Given the description of an element on the screen output the (x, y) to click on. 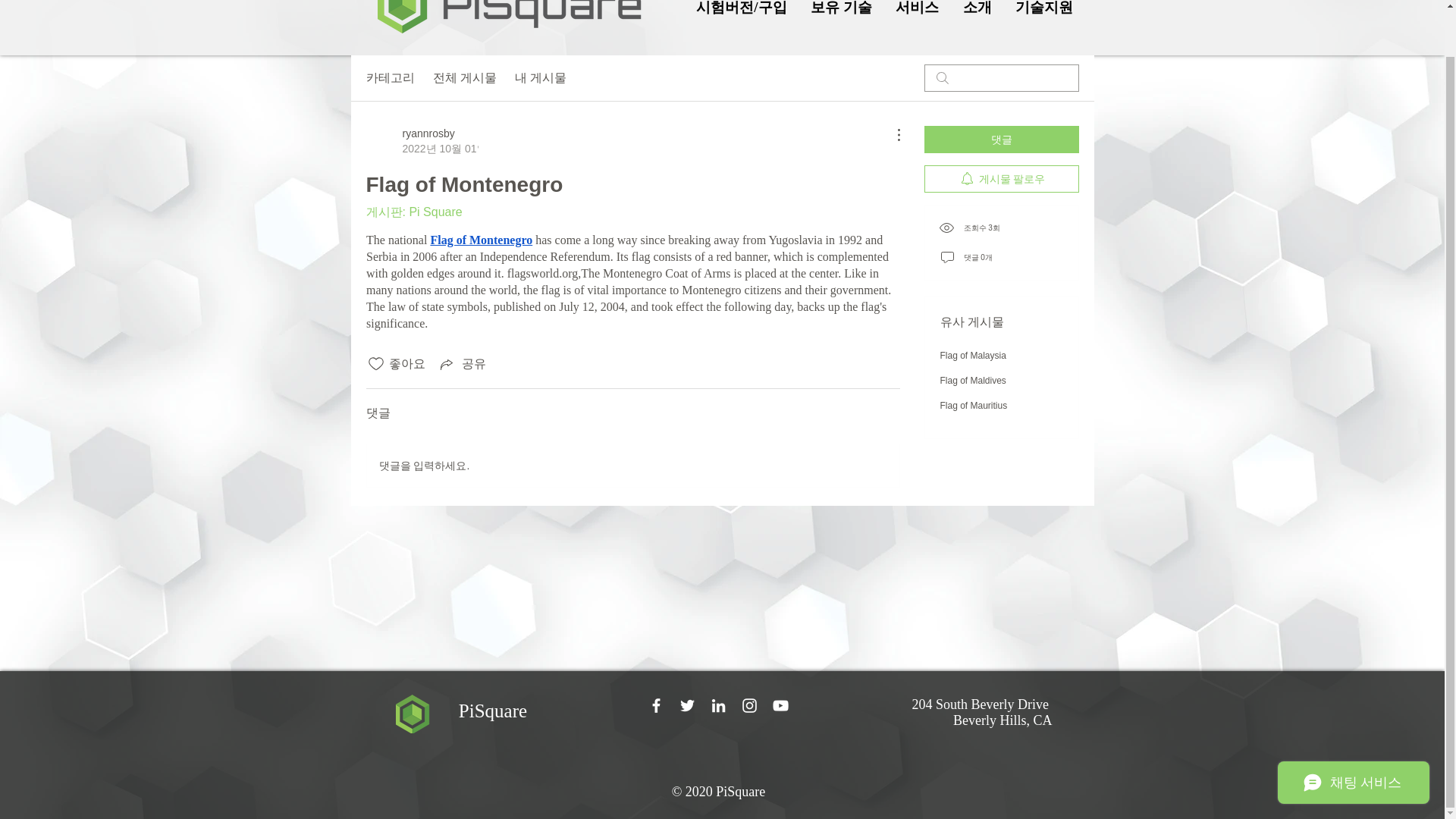
Flag of Malaysia (973, 355)
Flag of Maldives (973, 380)
Flag of Montenegro (480, 239)
Flag of Mauritius (973, 405)
